Given the description of an element on the screen output the (x, y) to click on. 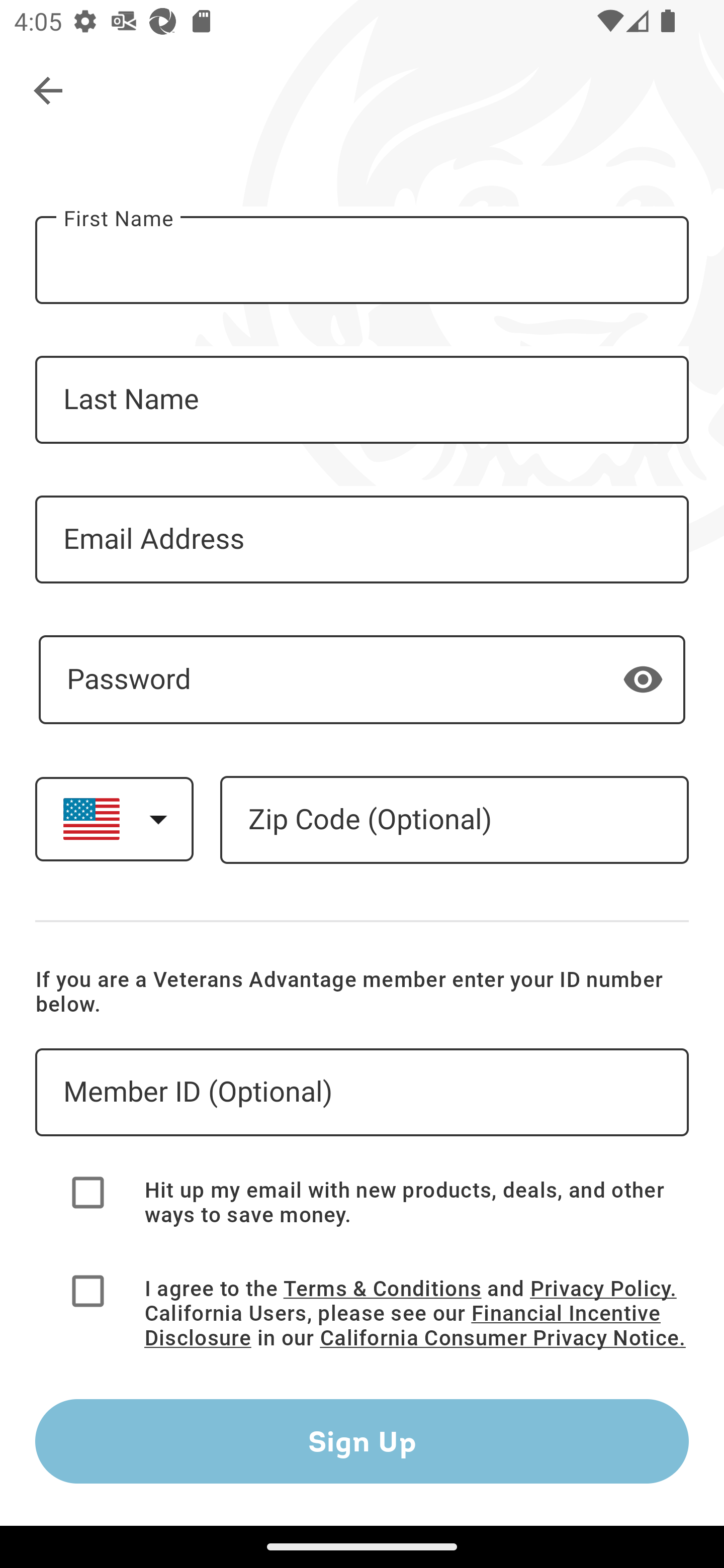
Navigate up (49, 91)
First Name - Required (361, 260)
Last Name - Required (361, 399)
Email Address - Required (361, 539)
- Required (361, 679)
Show password (642, 678)
Zip Code – Optional (454, 819)
Select a country. United States selected. (114, 818)
Veterans Advantage ID – Optional (361, 1092)
Sign Up (361, 1440)
